Given the description of an element on the screen output the (x, y) to click on. 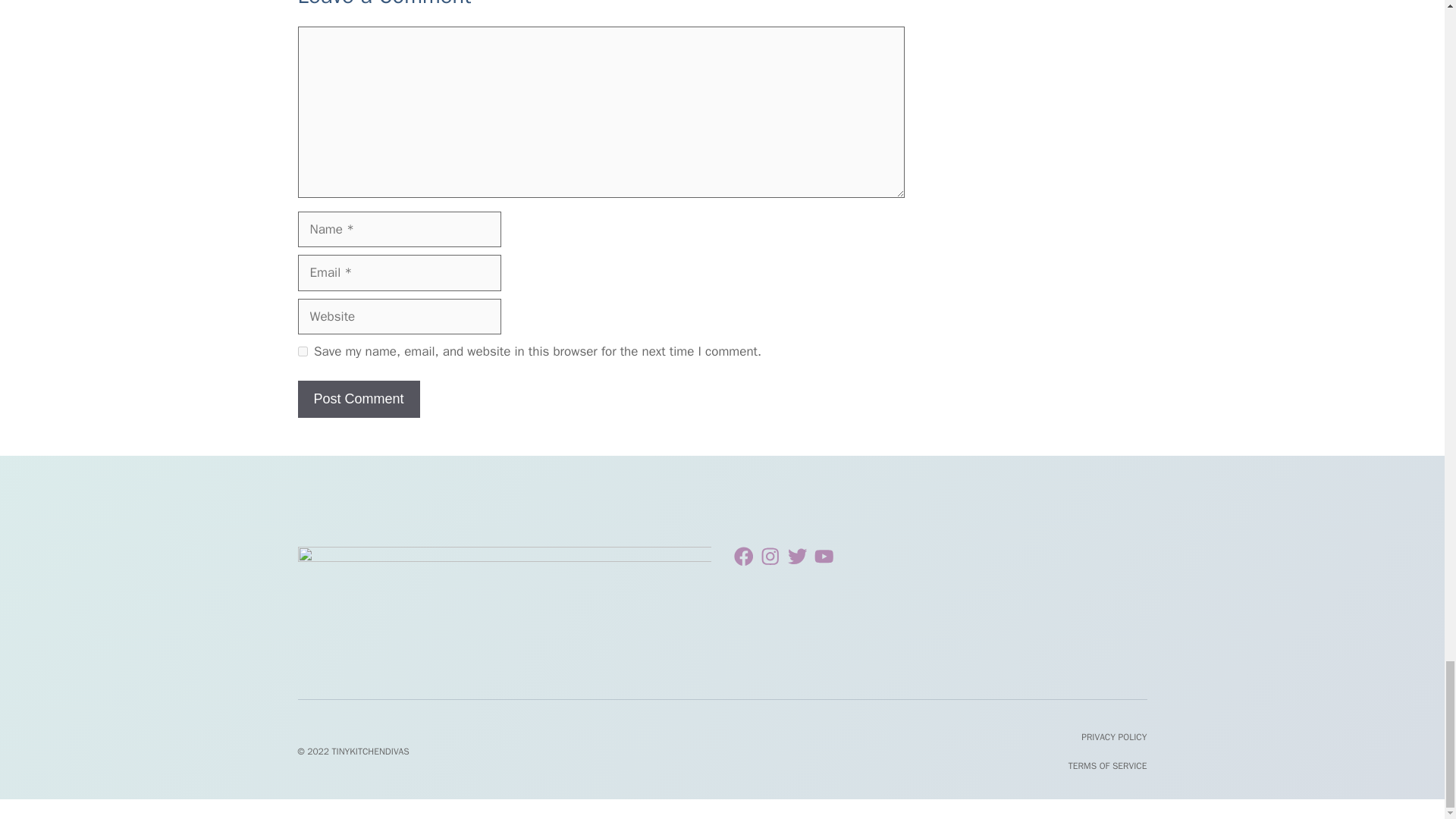
Post Comment (358, 398)
Post Comment (358, 398)
yes (302, 351)
